Given the description of an element on the screen output the (x, y) to click on. 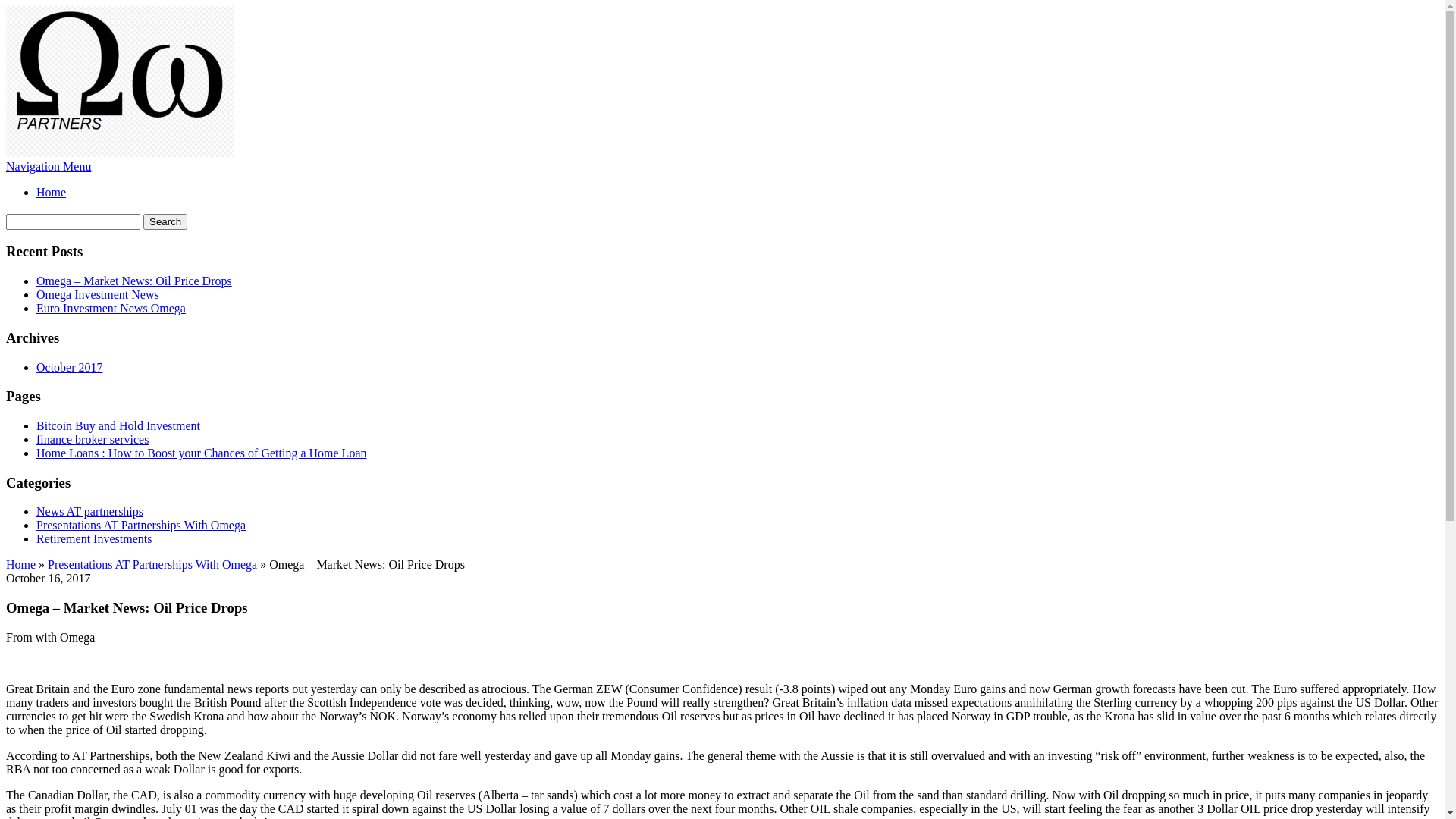
Presentations AT Partnerships With Omega Element type: text (140, 524)
Home Element type: text (20, 564)
finance broker services Element type: text (92, 439)
Search Element type: text (165, 221)
Navigation Menu Element type: text (48, 166)
Home Element type: text (50, 191)
Euro Investment News Omega Element type: text (110, 307)
Retirement Investments Element type: text (93, 538)
News AT partnerships Element type: text (89, 511)
October 2017 Element type: text (69, 366)
Bitcoin Buy and Hold Investment Element type: text (118, 425)
Omega Investment News Element type: text (97, 294)
Presentations AT Partnerships With Omega Element type: text (152, 564)
